Given the description of an element on the screen output the (x, y) to click on. 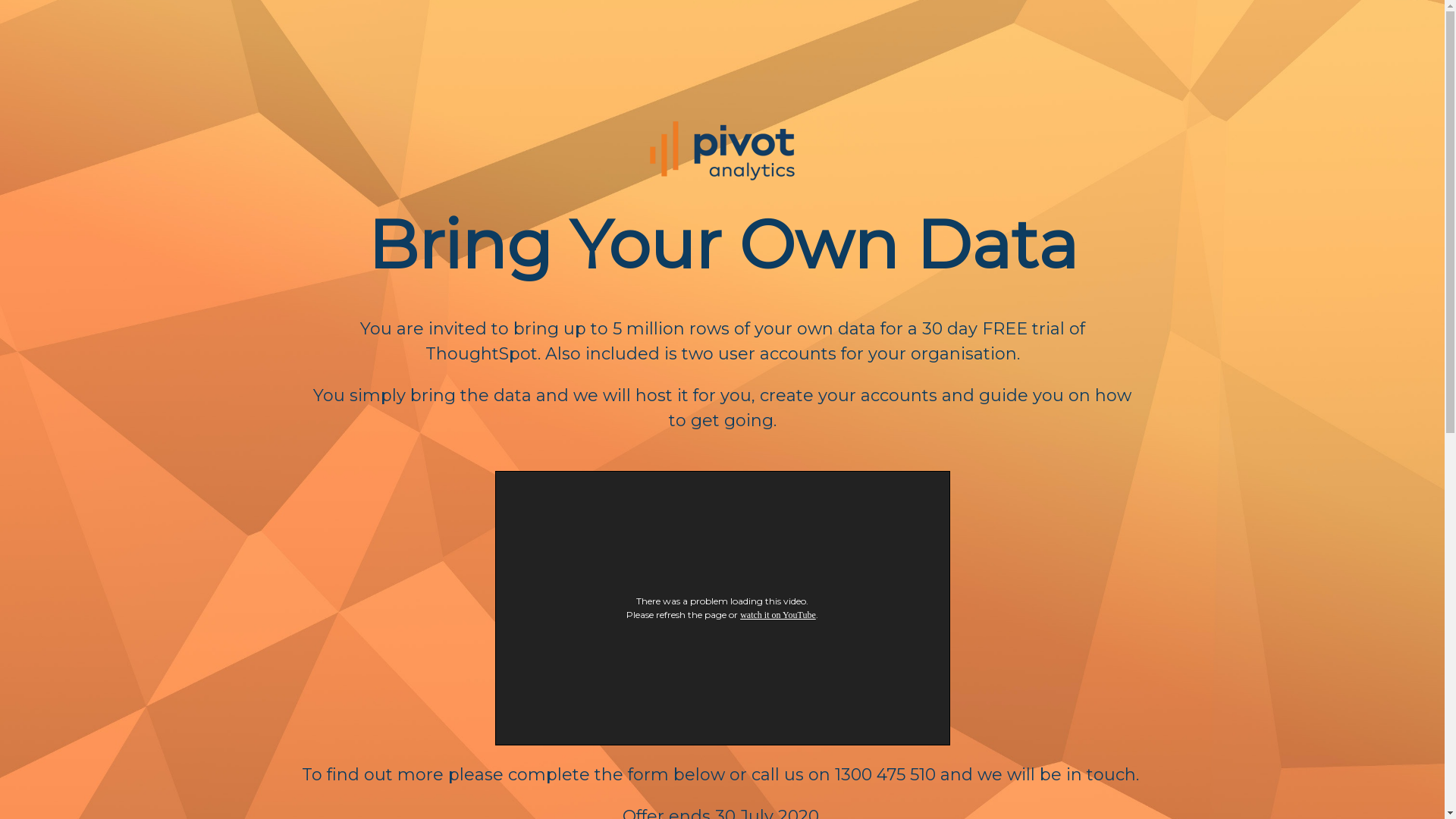
watch it on YouTube Element type: text (777, 614)
PivotAnalytics_FULL COLOUR_RGB Element type: hover (721, 150)
